Given the description of an element on the screen output the (x, y) to click on. 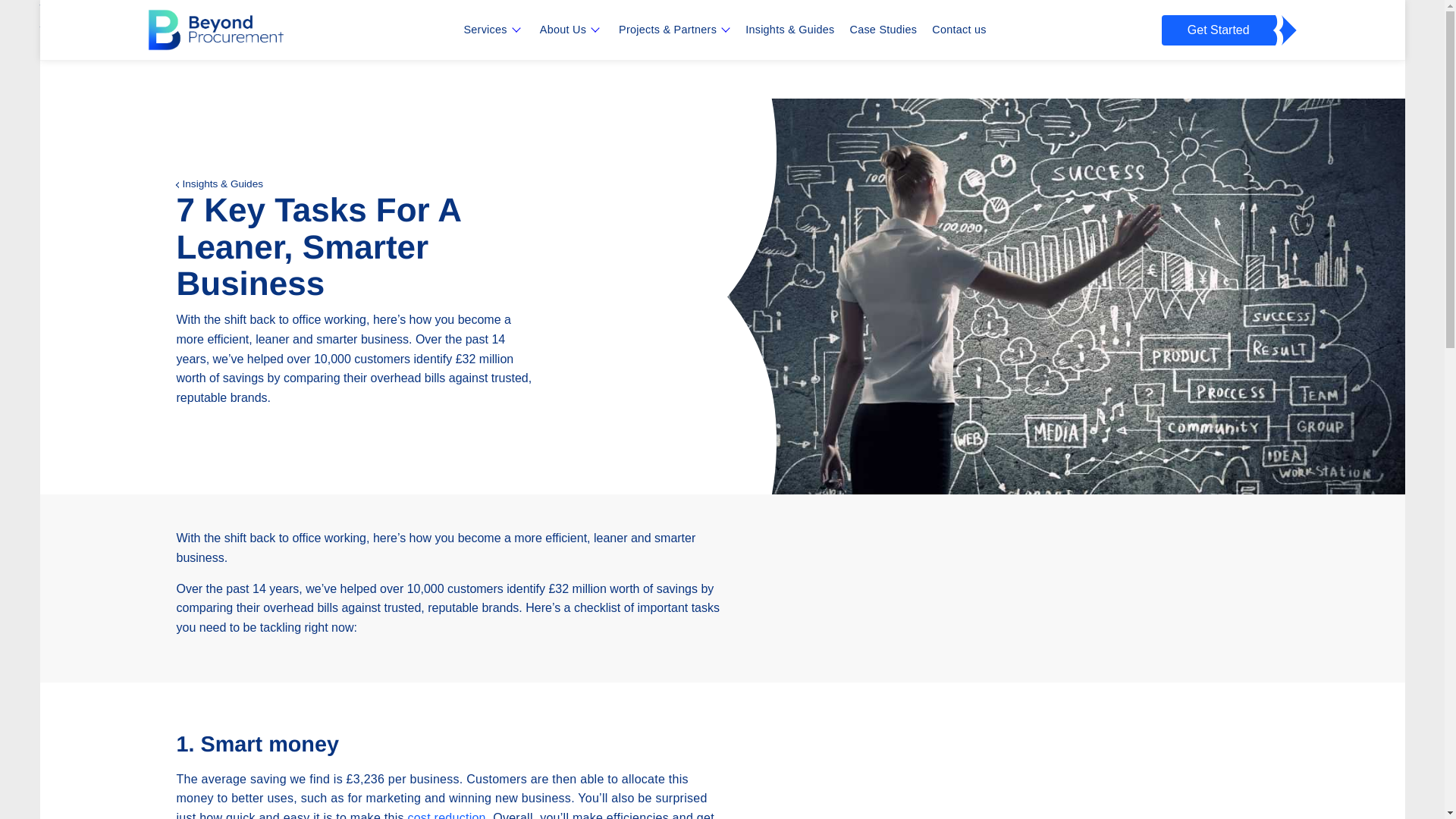
About Us (563, 30)
Beyond Procurement (205, 60)
Services (484, 30)
